Given the description of an element on the screen output the (x, y) to click on. 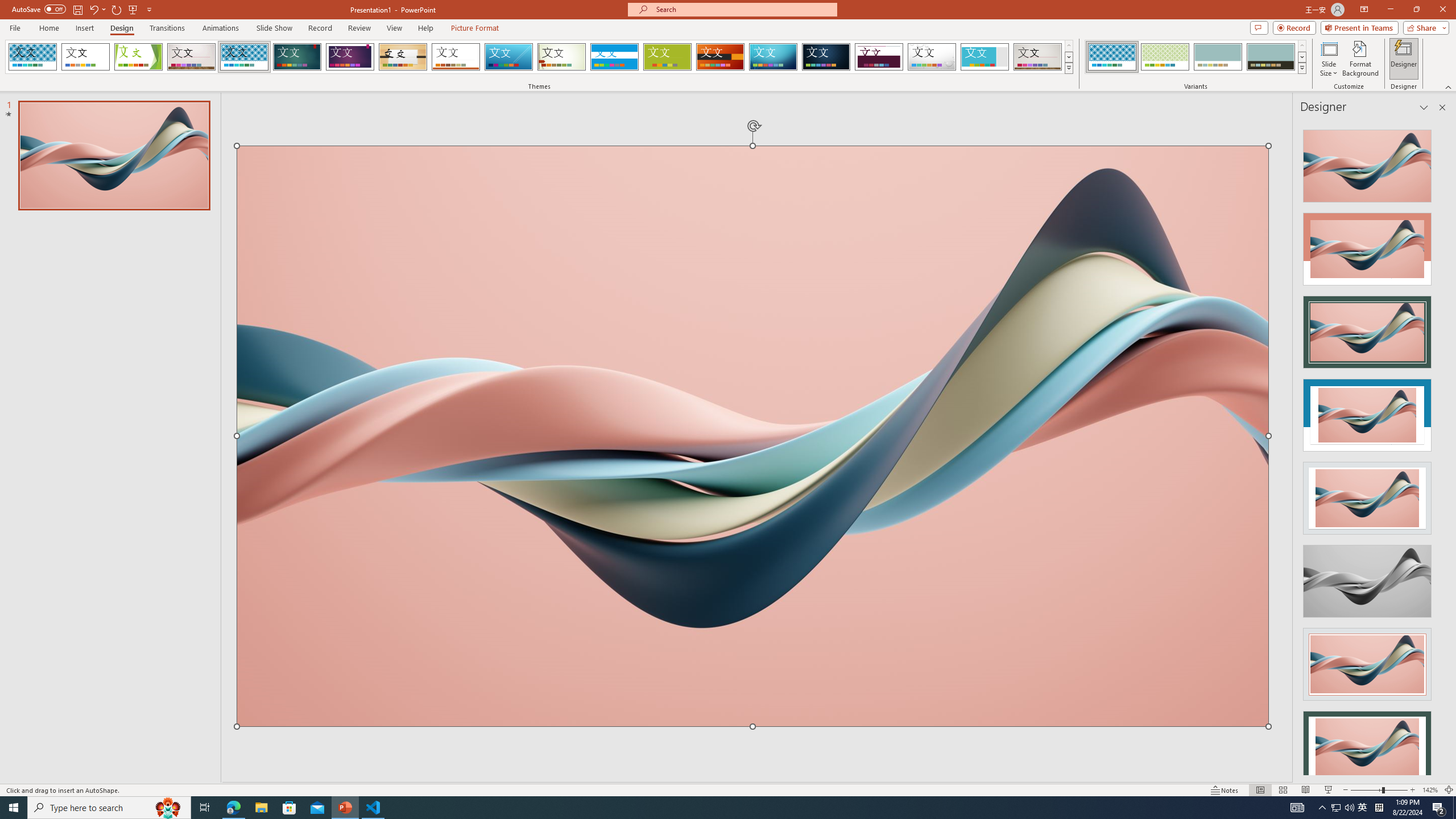
Class: NetUIScrollBar (1441, 447)
Slice (508, 56)
Retrospect (455, 56)
Banded (614, 56)
Themes (1068, 67)
Berlin (720, 56)
